Given the description of an element on the screen output the (x, y) to click on. 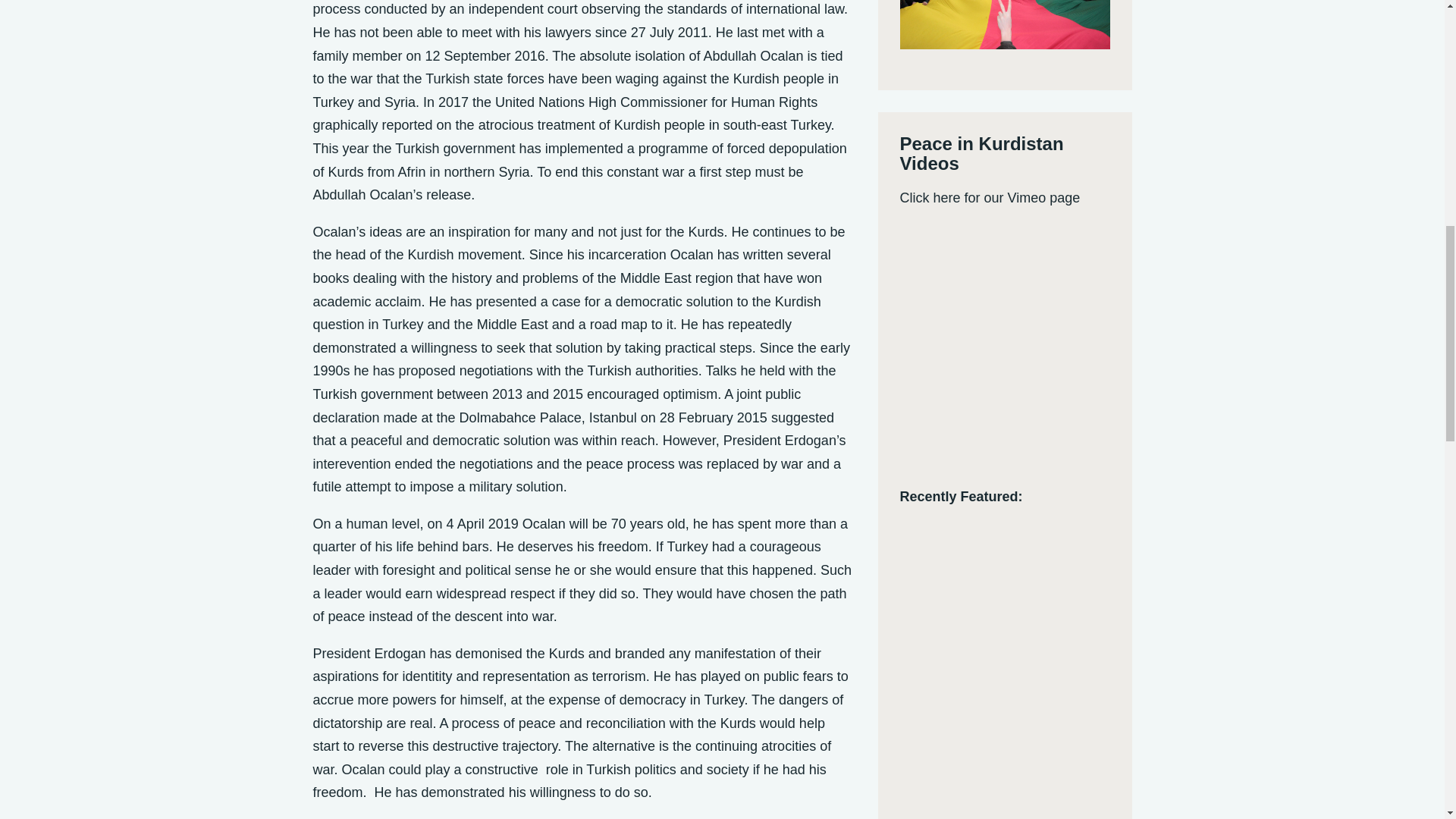
The Heart of Raqqa (1004, 709)
